Given the description of an element on the screen output the (x, y) to click on. 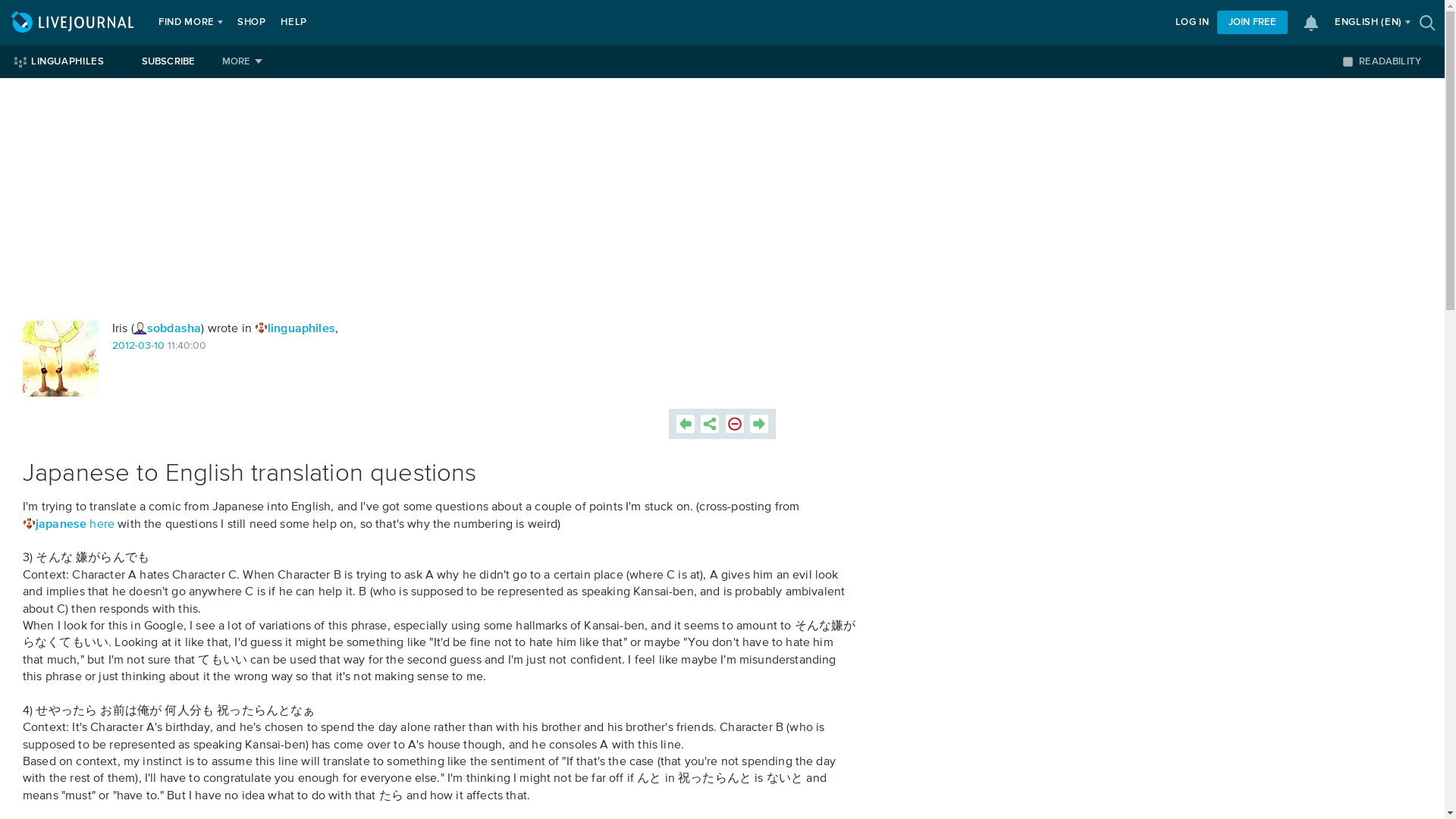
Share (709, 423)
LOG IN (1192, 22)
on (1347, 61)
LINGUAPHILES (66, 61)
LIVEJOURNAL (73, 22)
HELP (293, 22)
Previous (685, 423)
Iris: narcissus (61, 358)
JOIN FREE (1252, 22)
SUBSCRIBE (167, 61)
